Given the description of an element on the screen output the (x, y) to click on. 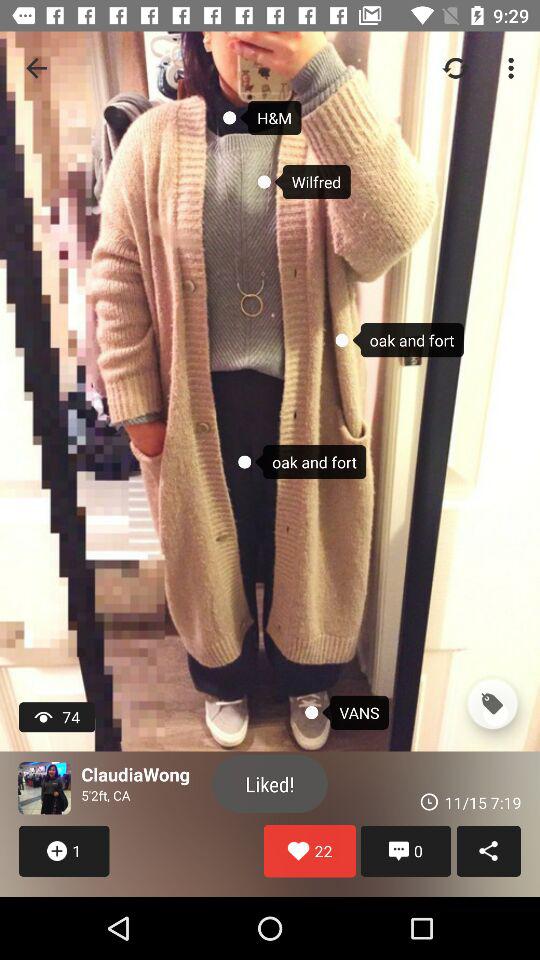
label brand (492, 704)
